Given the description of an element on the screen output the (x, y) to click on. 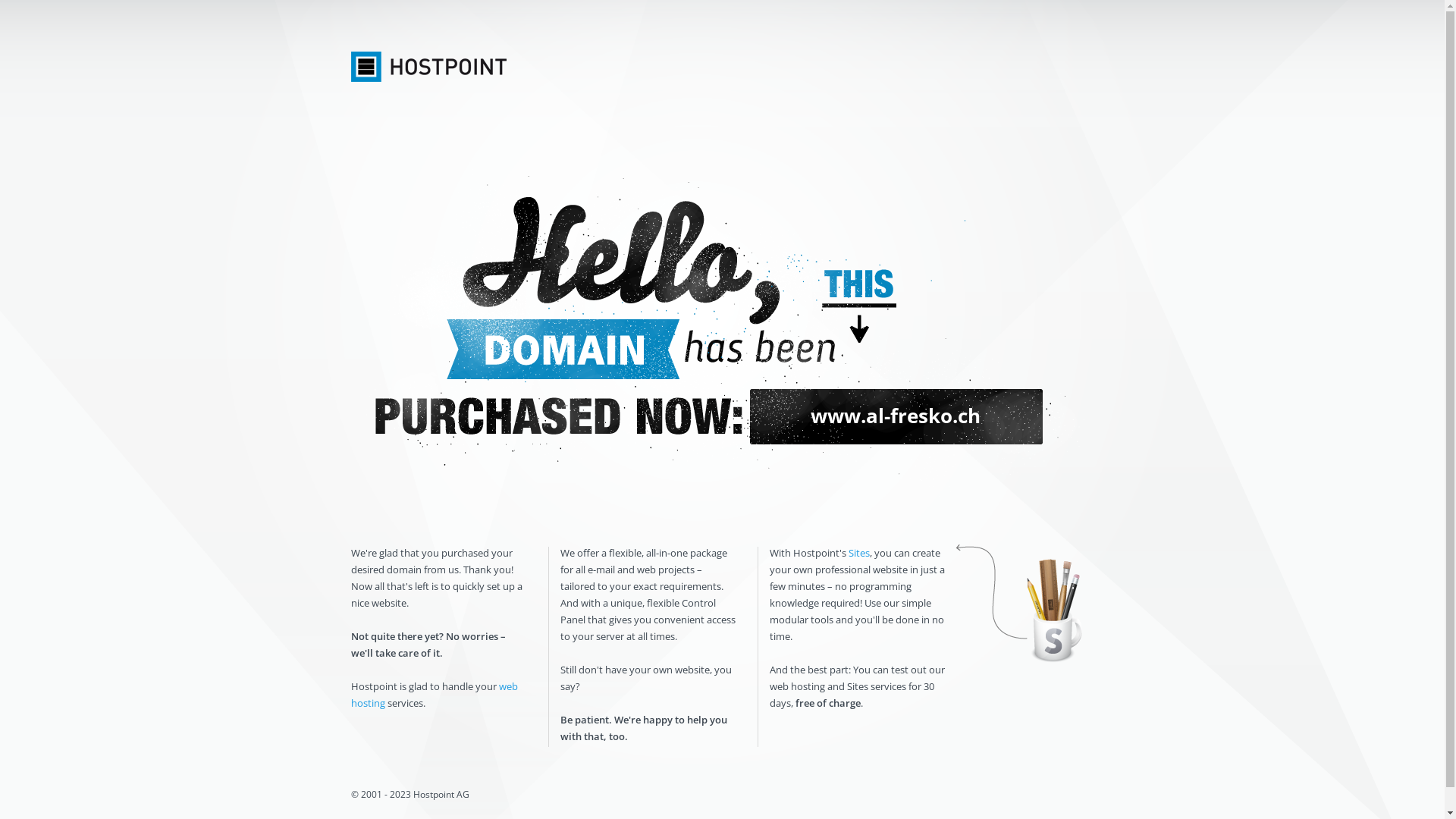
web hosting Element type: text (433, 694)
Sites Element type: text (858, 552)
